Given the description of an element on the screen output the (x, y) to click on. 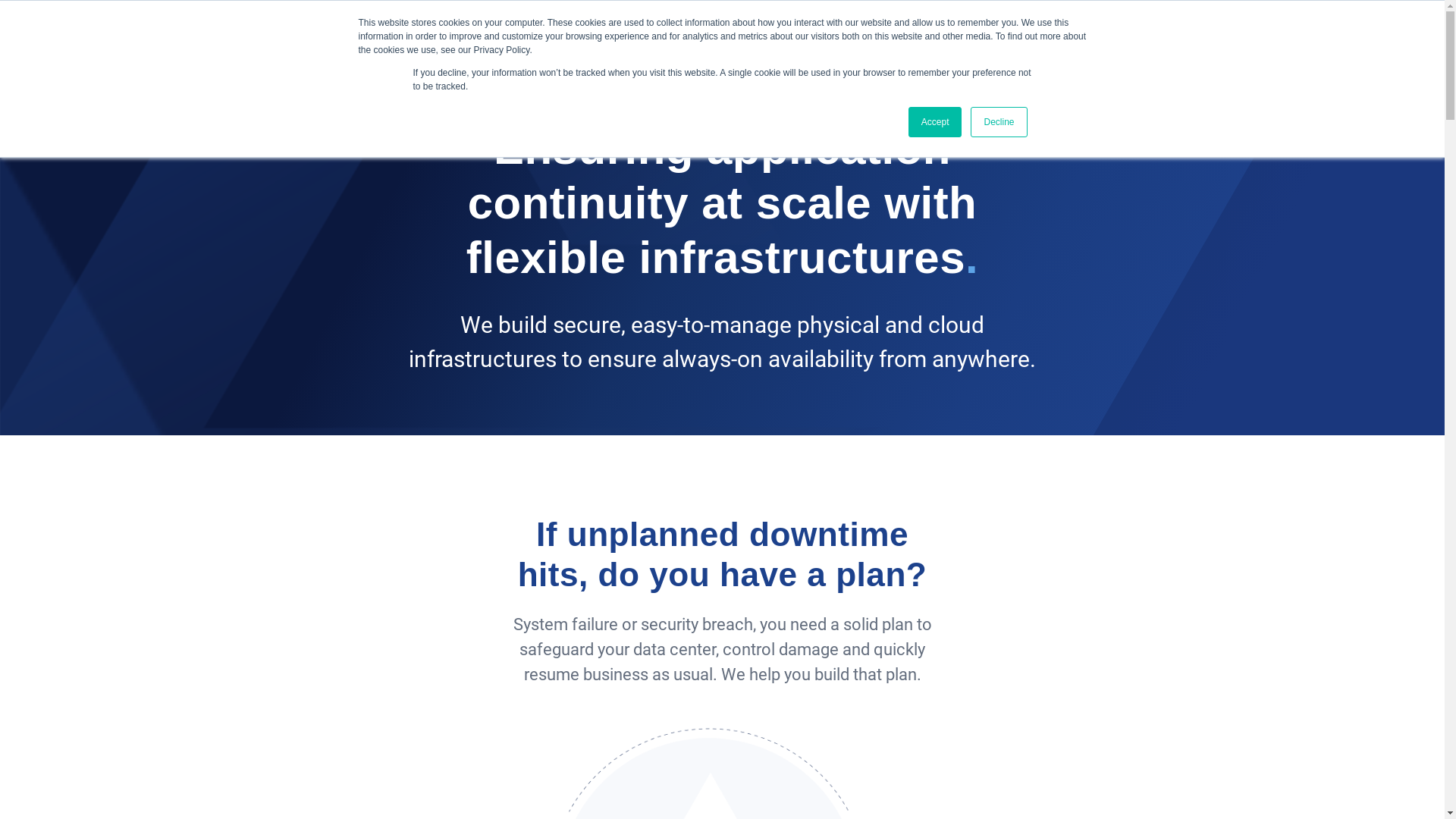
Decline Element type: text (998, 121)
Accept Element type: text (935, 121)
BLOG Element type: text (1119, 33)
WORKSPACE Element type: text (851, 33)
Agisko logo Element type: hover (297, 30)
SERVICES Element type: text (938, 33)
TECHNOLOGIES Element type: text (1035, 33)
DATA CENTER Element type: text (752, 33)
